Given the description of an element on the screen output the (x, y) to click on. 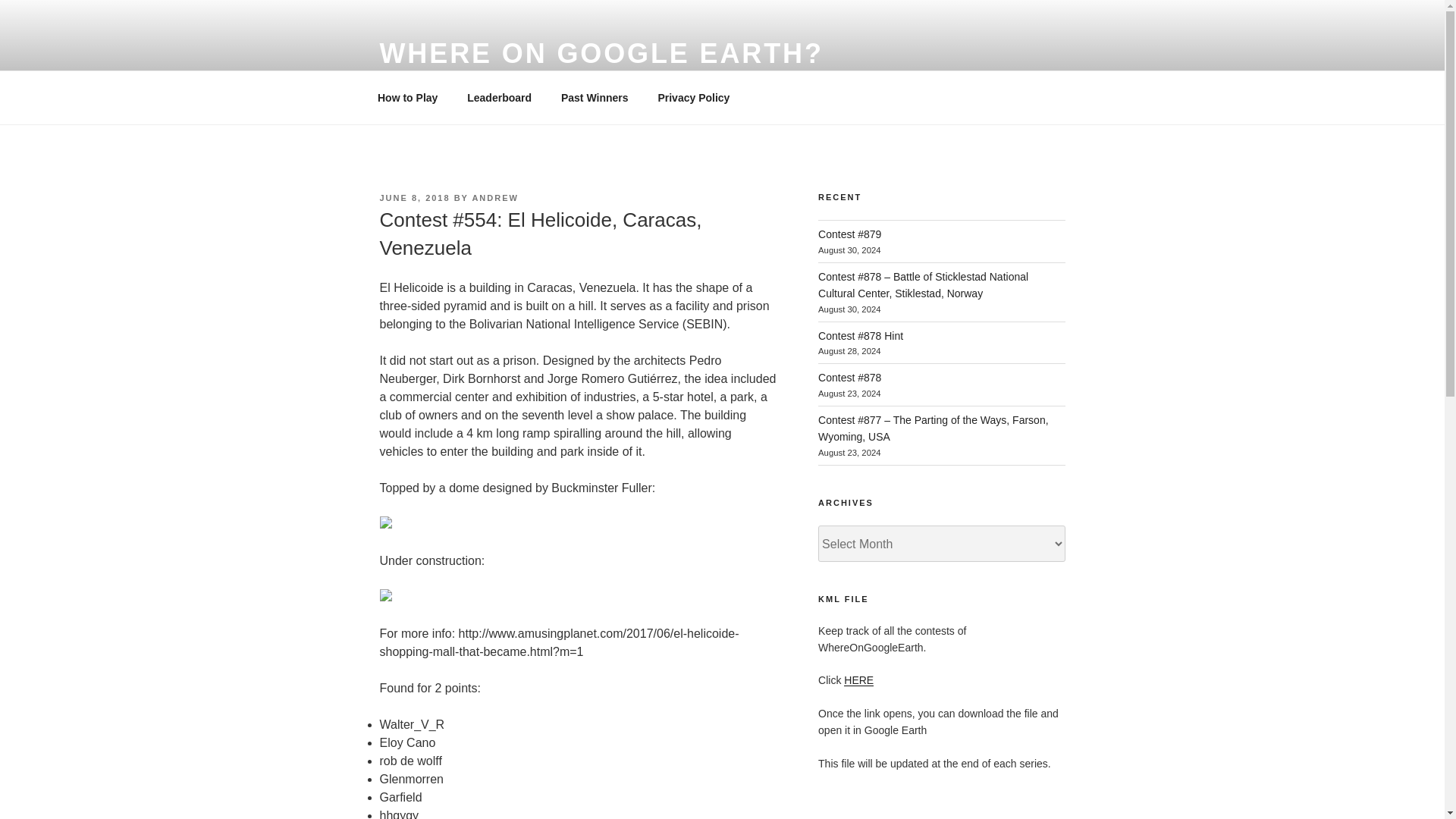
ANDREW (494, 197)
WHERE ON GOOGLE EARTH? (600, 52)
Past Winners (594, 97)
JUNE 8, 2018 (413, 197)
How to Play (406, 97)
Leaderboard (499, 97)
HERE (858, 680)
Privacy Policy (693, 97)
